Given the description of an element on the screen output the (x, y) to click on. 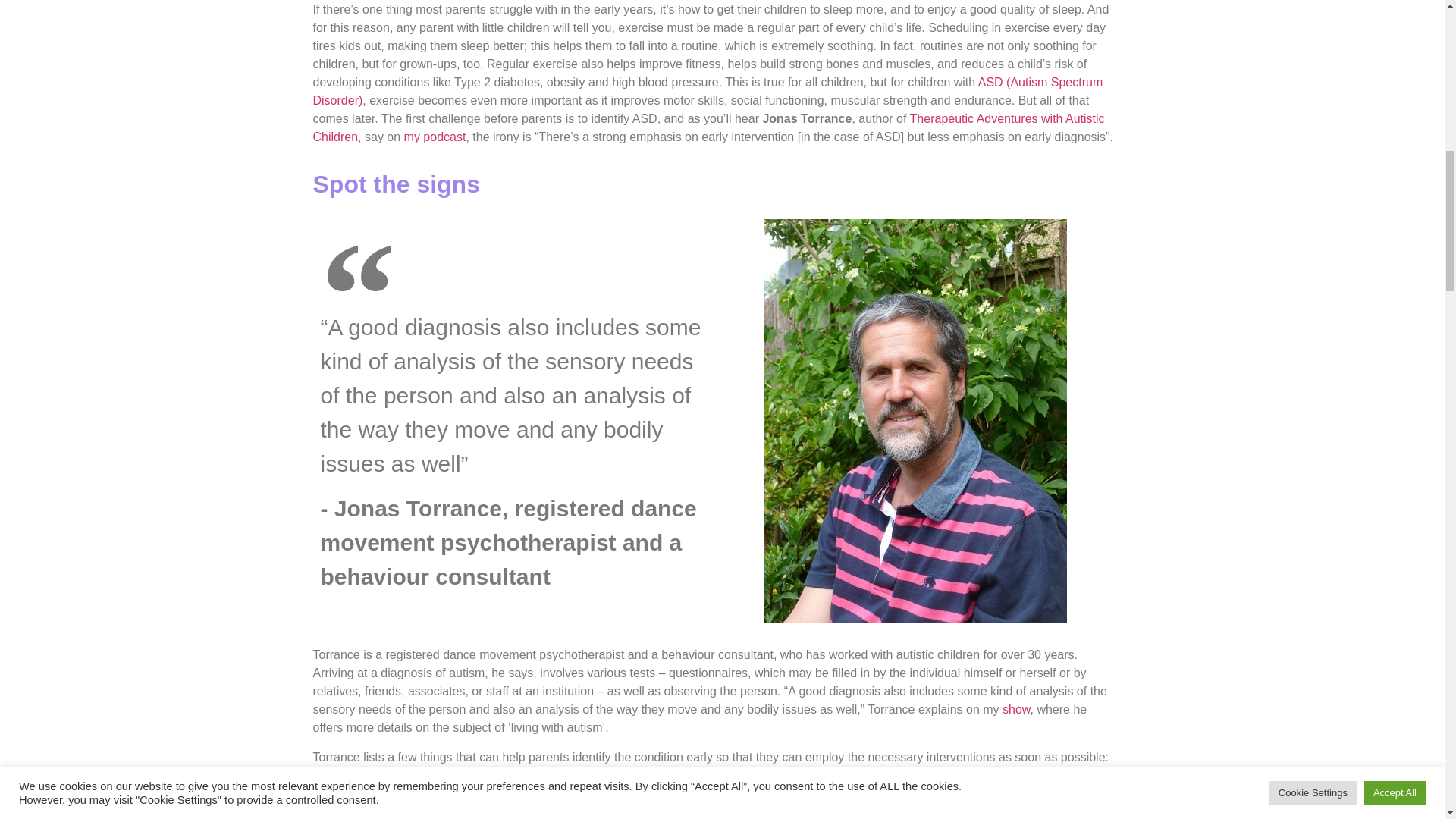
Therapeutic Adventures with Autistic Children (708, 127)
my podcast (434, 136)
show (1016, 708)
